Given the description of an element on the screen output the (x, y) to click on. 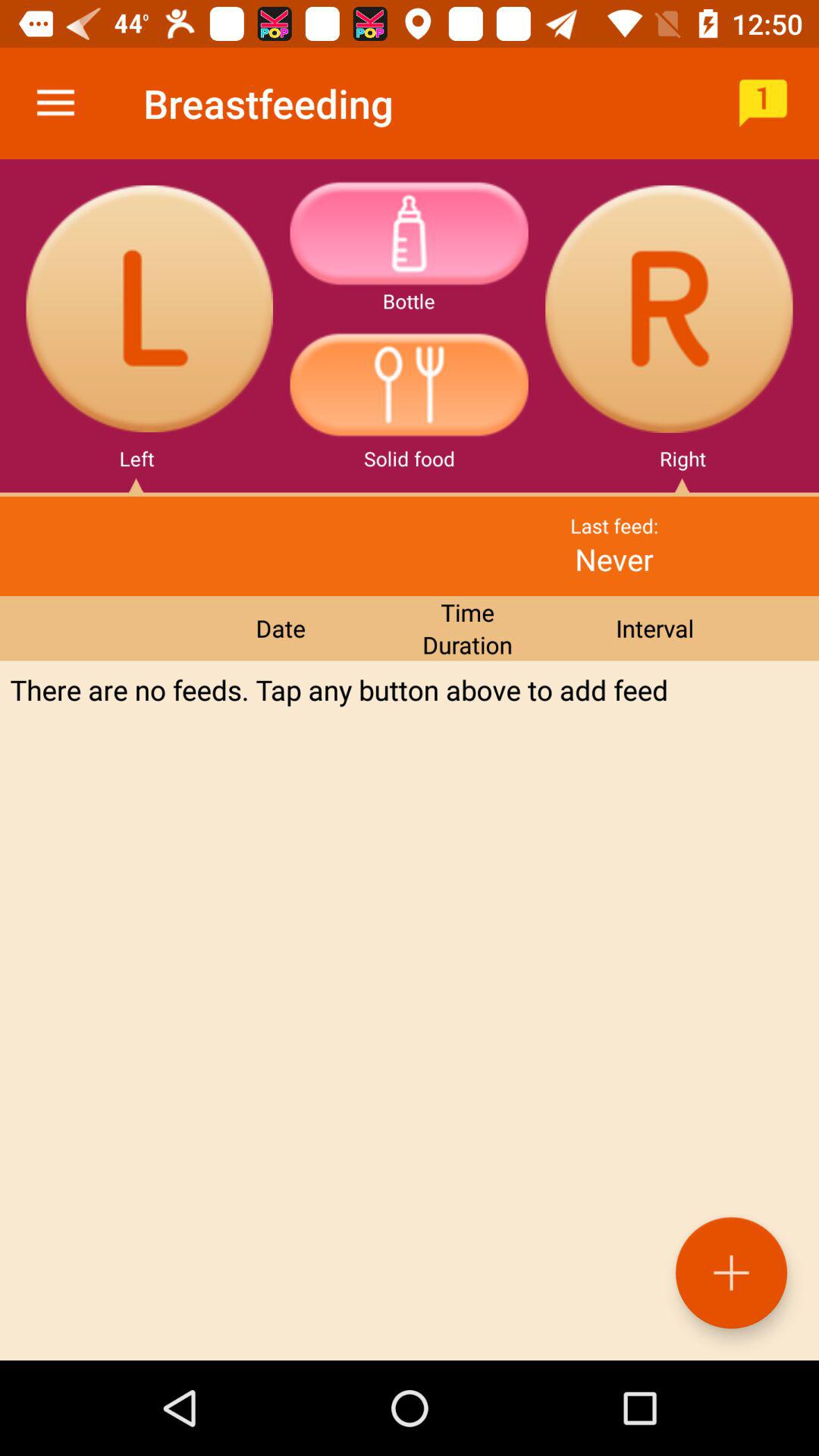
turn on icon at the bottom right corner (731, 1272)
